Given the description of an element on the screen output the (x, y) to click on. 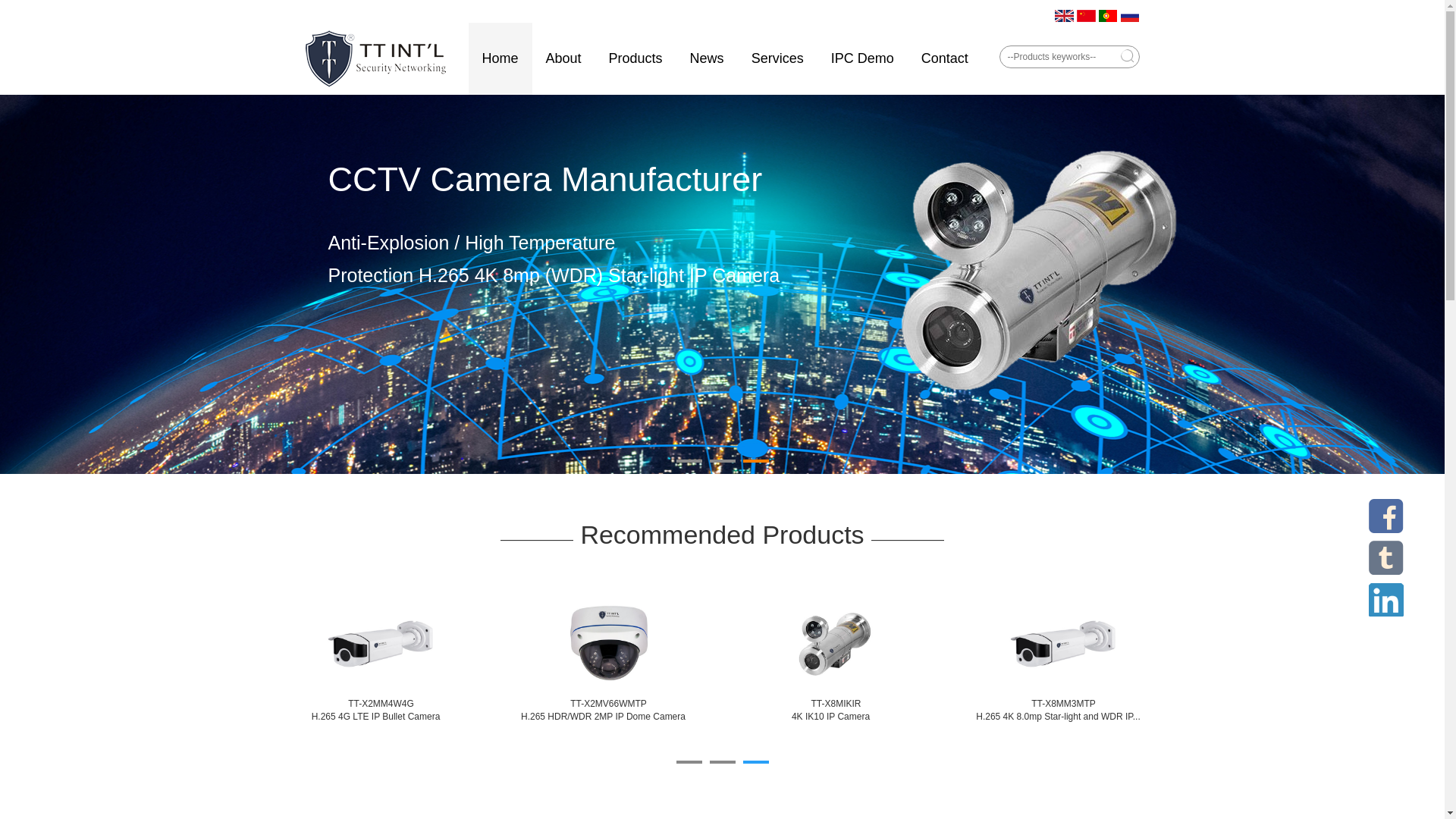
Services Element type: text (777, 58)
Products Element type: text (635, 58)
About Element type: text (563, 58)
Contact Element type: text (944, 58)
Home Element type: text (500, 58)
IPC Demo Element type: text (862, 58)
News Element type: text (706, 58)
